Given the description of an element on the screen output the (x, y) to click on. 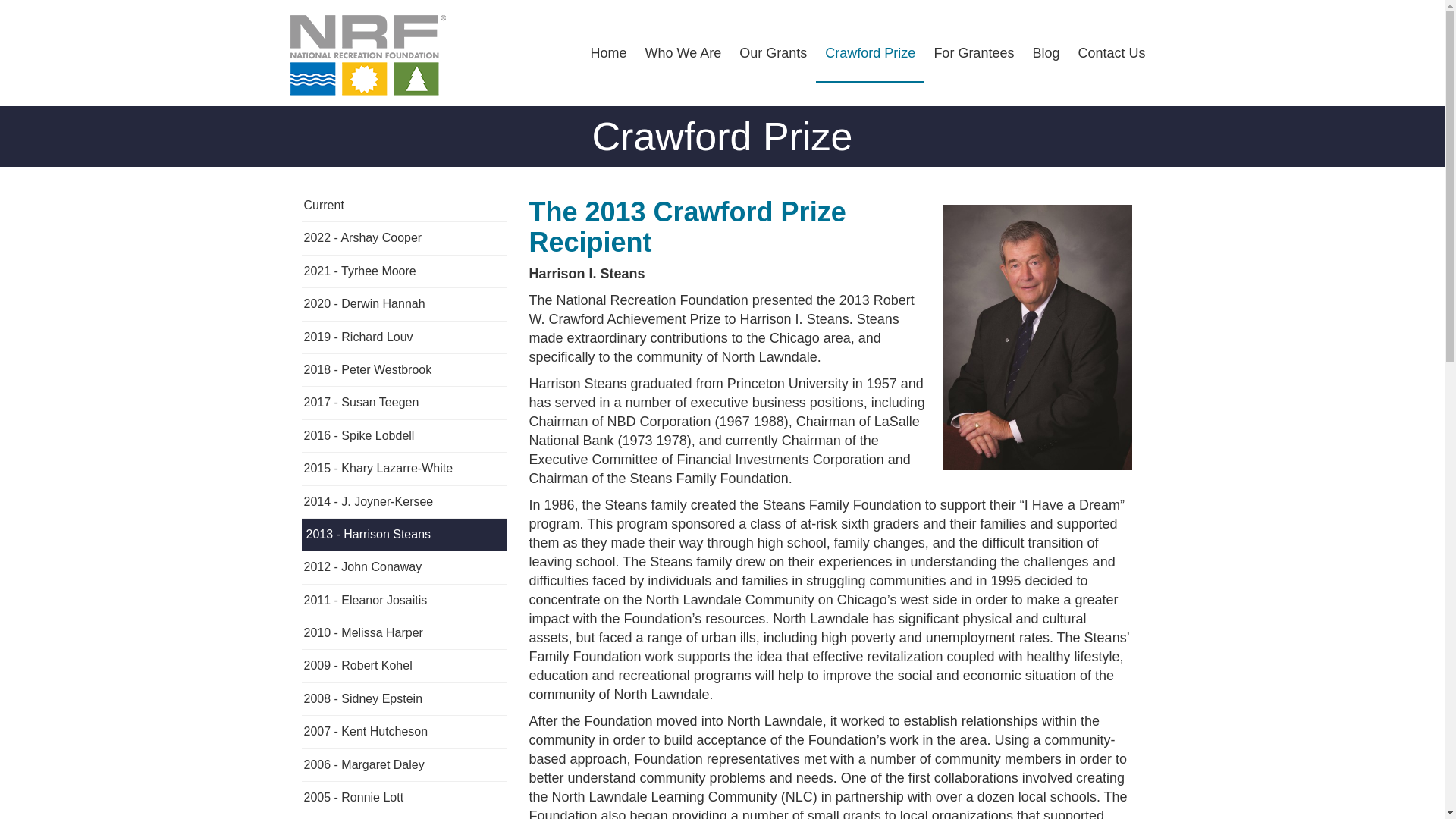
2006 - Margaret Daley (403, 765)
2014 - J. Joyner-Kersee (403, 502)
2009 - Robert Kohel (403, 666)
2013 - Harrison Steans (403, 534)
2016 - Spike Lobdell (403, 436)
2012 - John Conaway (403, 567)
Our Grants (772, 41)
2008 - Sidney Epstein (403, 699)
2017 - Susan Teegen (403, 402)
2011 - Eleanor Josaitis (403, 600)
2015 - Khary Lazarre-White (403, 468)
2018 - Peter Westbrook (403, 369)
Contact Us (1111, 41)
Crawford Prize (869, 41)
2010 - Melissa Harper (403, 633)
